Given the description of an element on the screen output the (x, y) to click on. 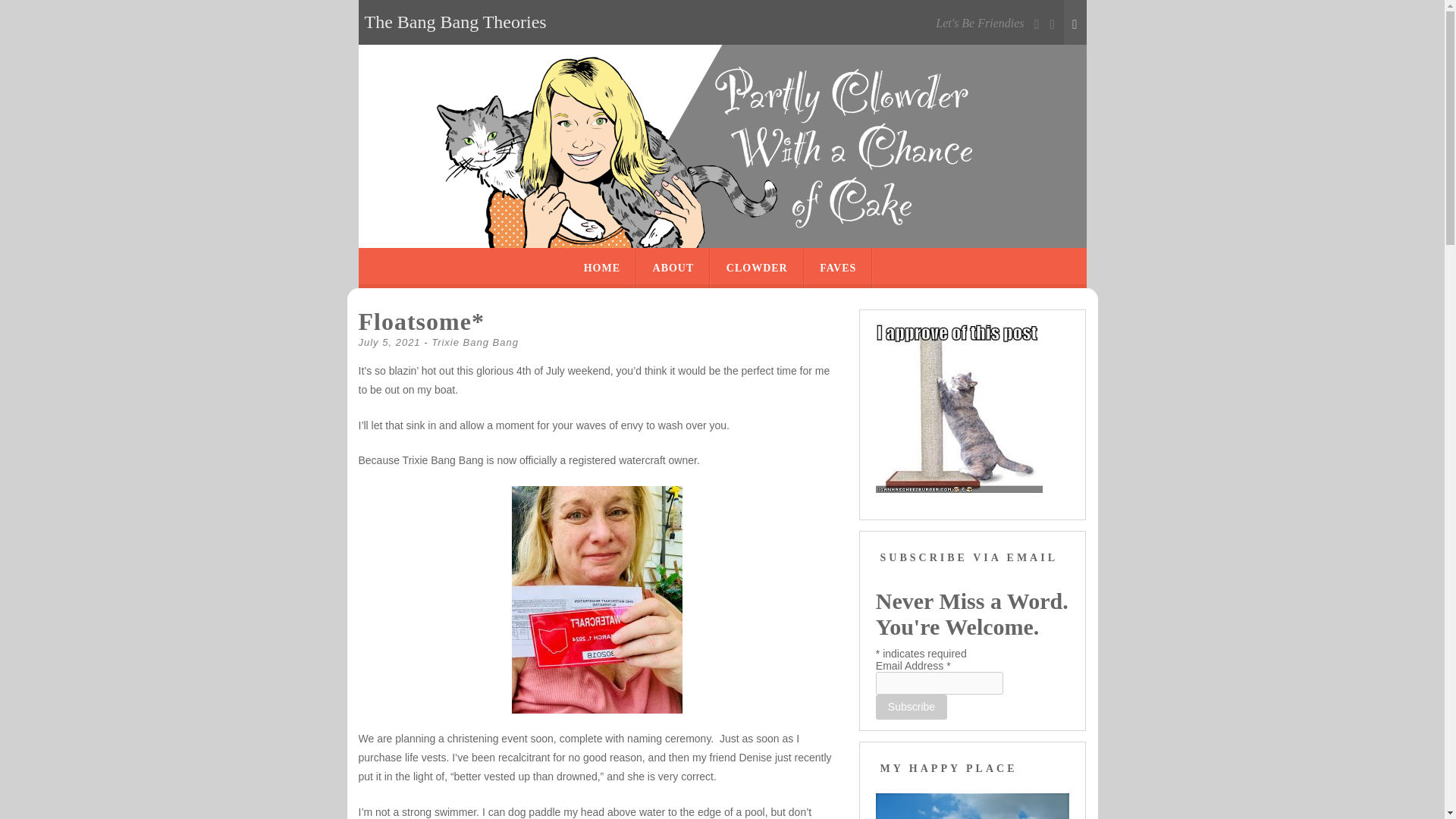
Trixie Bang Bang (474, 342)
Subscribe (911, 706)
July 5, 2021 (389, 342)
FAVES (837, 268)
ABOUT (673, 268)
HOME (601, 268)
CLOWDER (756, 268)
Subscribe (911, 706)
